Given the description of an element on the screen output the (x, y) to click on. 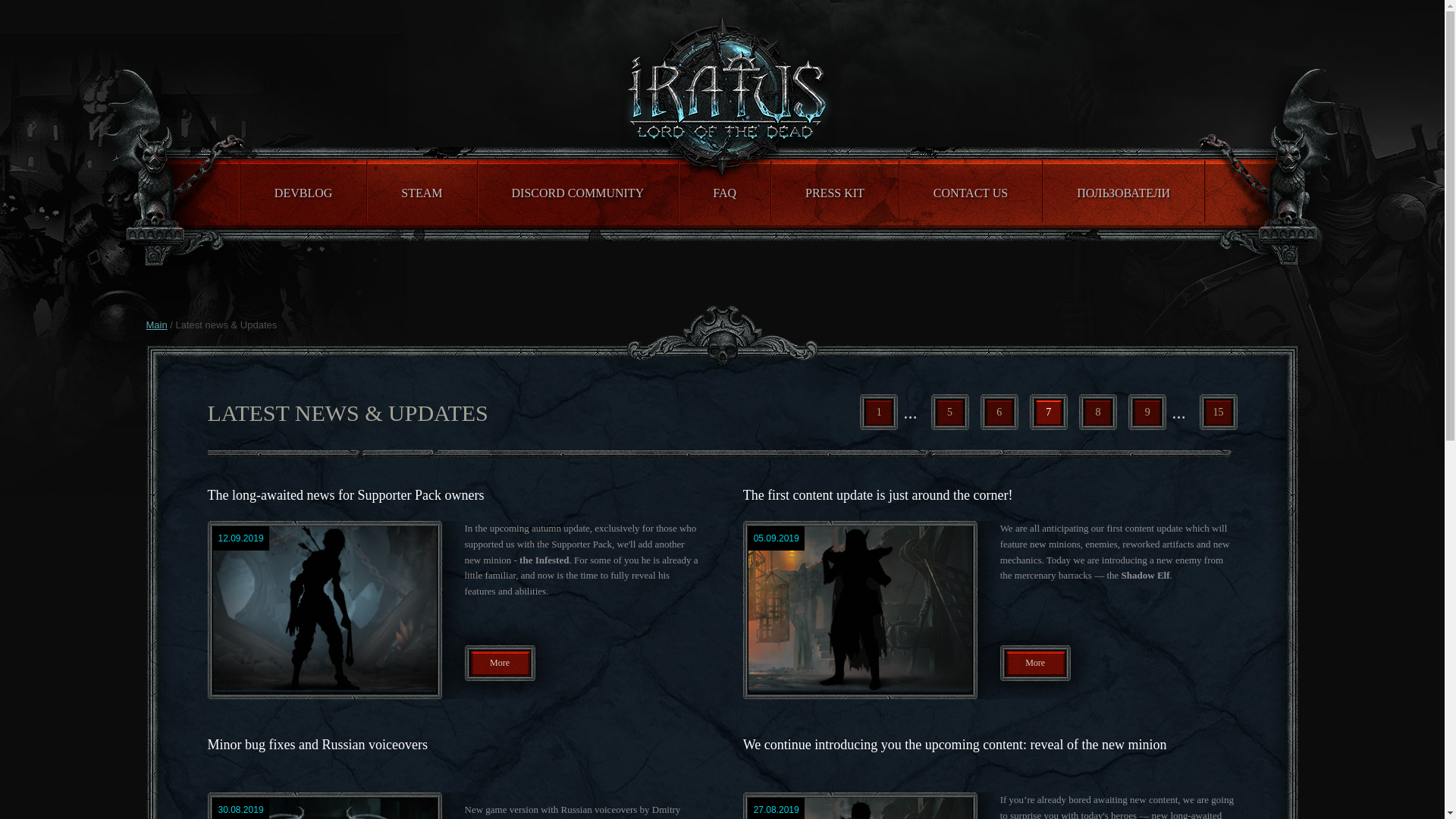
9 (1147, 411)
Minor bug fixes and Russian voiceovers (318, 744)
Main (156, 324)
CONTACT US (970, 190)
The first content update is just around the corner! (877, 494)
The long-awaited news for Supporter Pack owners (346, 494)
6 (998, 411)
8 (1097, 411)
STEAM (421, 190)
15 (1218, 411)
More (499, 662)
PRESS KIT (834, 190)
DISCORD COMMUNITY (577, 190)
5 (950, 411)
More (1035, 662)
